Given the description of an element on the screen output the (x, y) to click on. 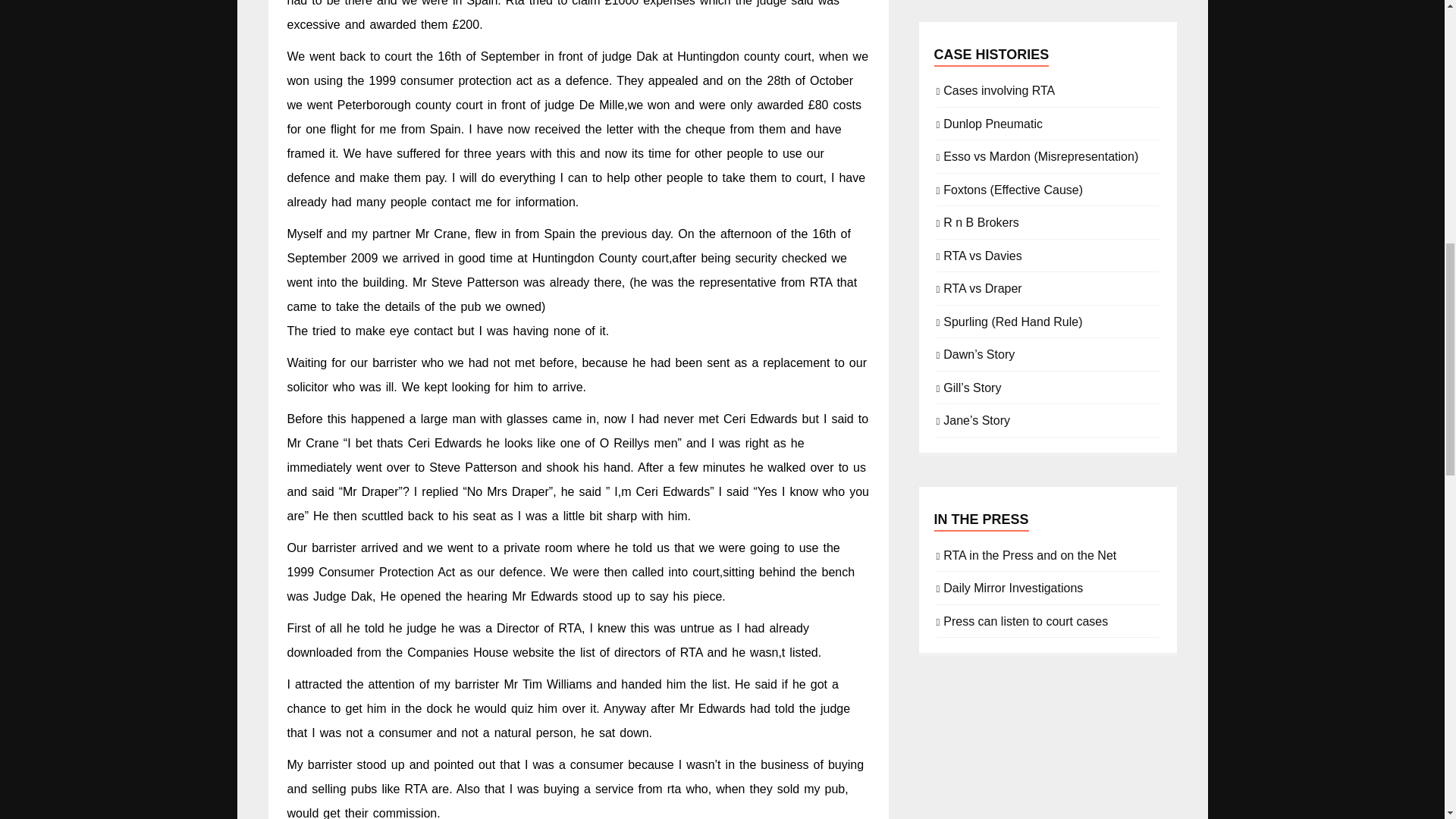
Freedom for press to listen to court cases (1025, 620)
RTA in the Press and on the Net (1029, 553)
R n B Brokers (981, 221)
Press can listen to court cases (1025, 620)
Daily Mirror Investigations (1013, 586)
Cases involving RTA (998, 89)
Dunlop Pneumatic (992, 122)
RTA vs Draper (982, 287)
RTA vs Davies (982, 254)
